Given the description of an element on the screen output the (x, y) to click on. 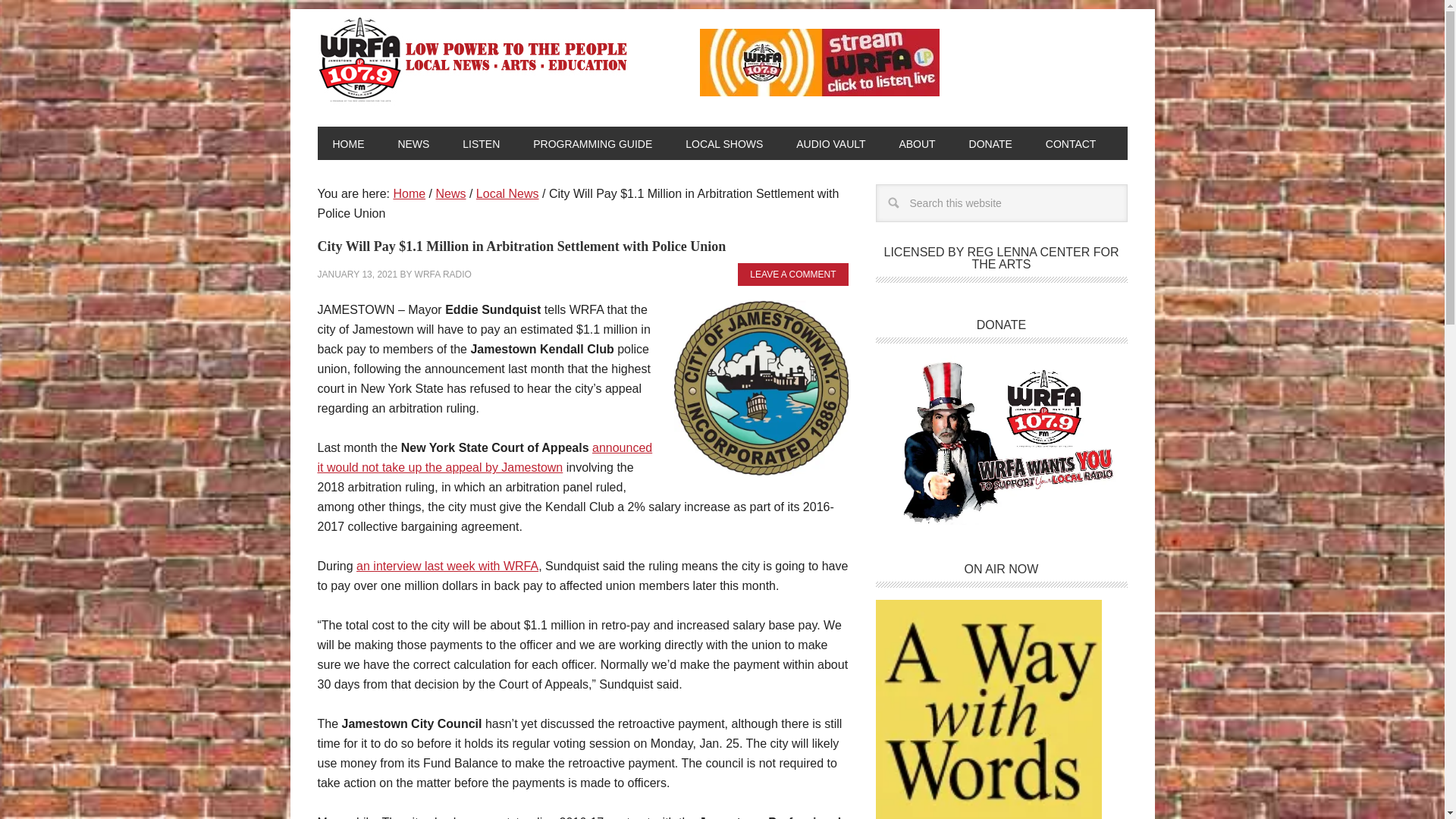
ABOUT (916, 142)
HOME (347, 142)
DONATE (990, 142)
LISTEN (480, 142)
AUDIO VAULT (830, 142)
PROGRAMMING GUIDE (592, 142)
LOCAL SHOWS (723, 142)
NEWS (412, 142)
